Given the description of an element on the screen output the (x, y) to click on. 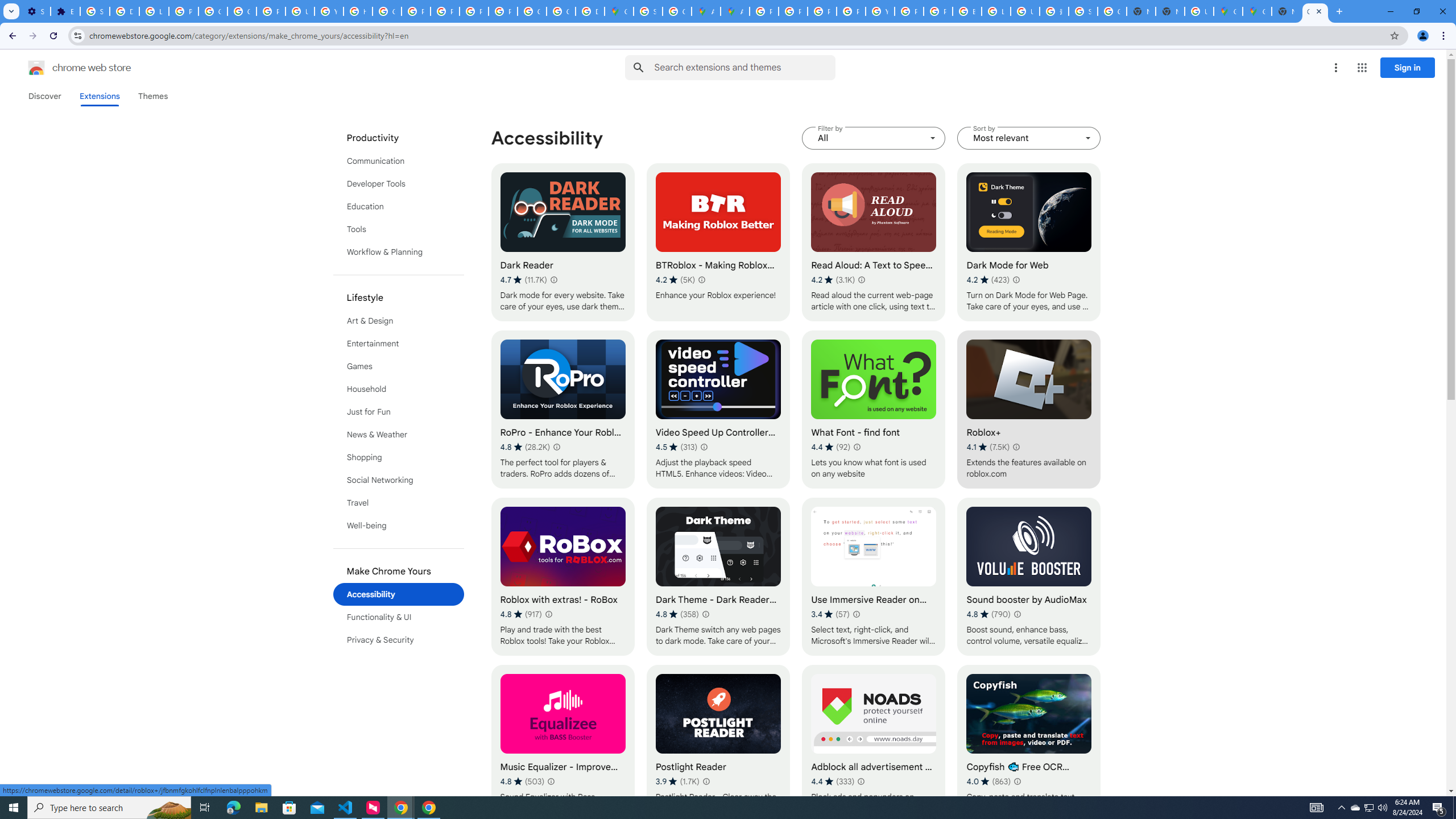
Travel (398, 502)
Developer Tools (398, 182)
Average rating 4.2 out of 5 stars. 3.1K ratings. (833, 279)
Sound booster by AudioMax (1028, 576)
Learn more about results and reviews "Dark Mode for Web" (1015, 279)
Well-being (398, 525)
Average rating 4.7 out of 5 stars. 11.7K ratings. (523, 279)
Social Networking (398, 479)
Shopping (398, 456)
Average rating 3.9 out of 5 stars. 1.7K ratings. (676, 781)
